Given the description of an element on the screen output the (x, y) to click on. 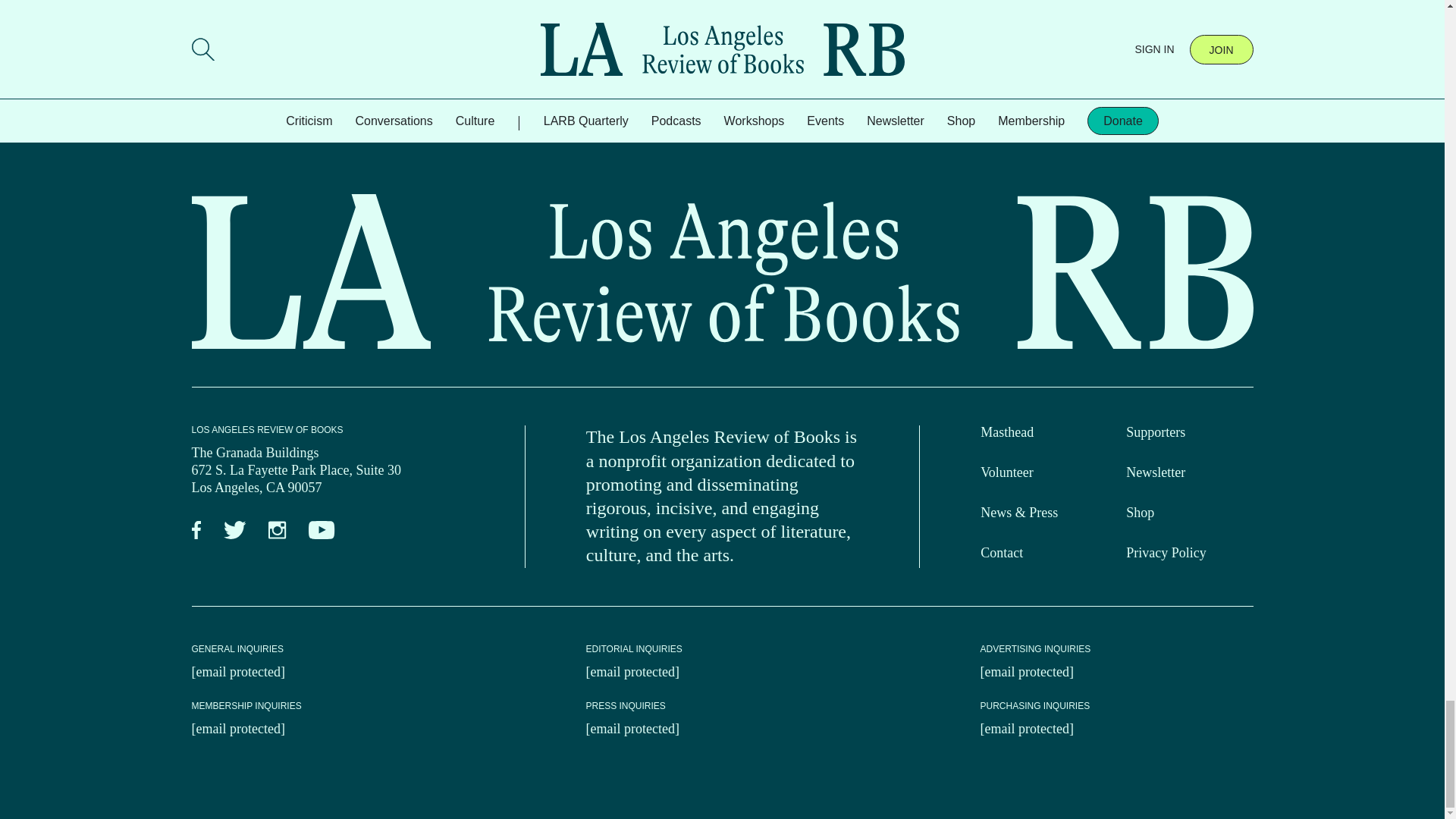
YouTube (321, 530)
DONATE (321, 26)
